Given the description of an element on the screen output the (x, y) to click on. 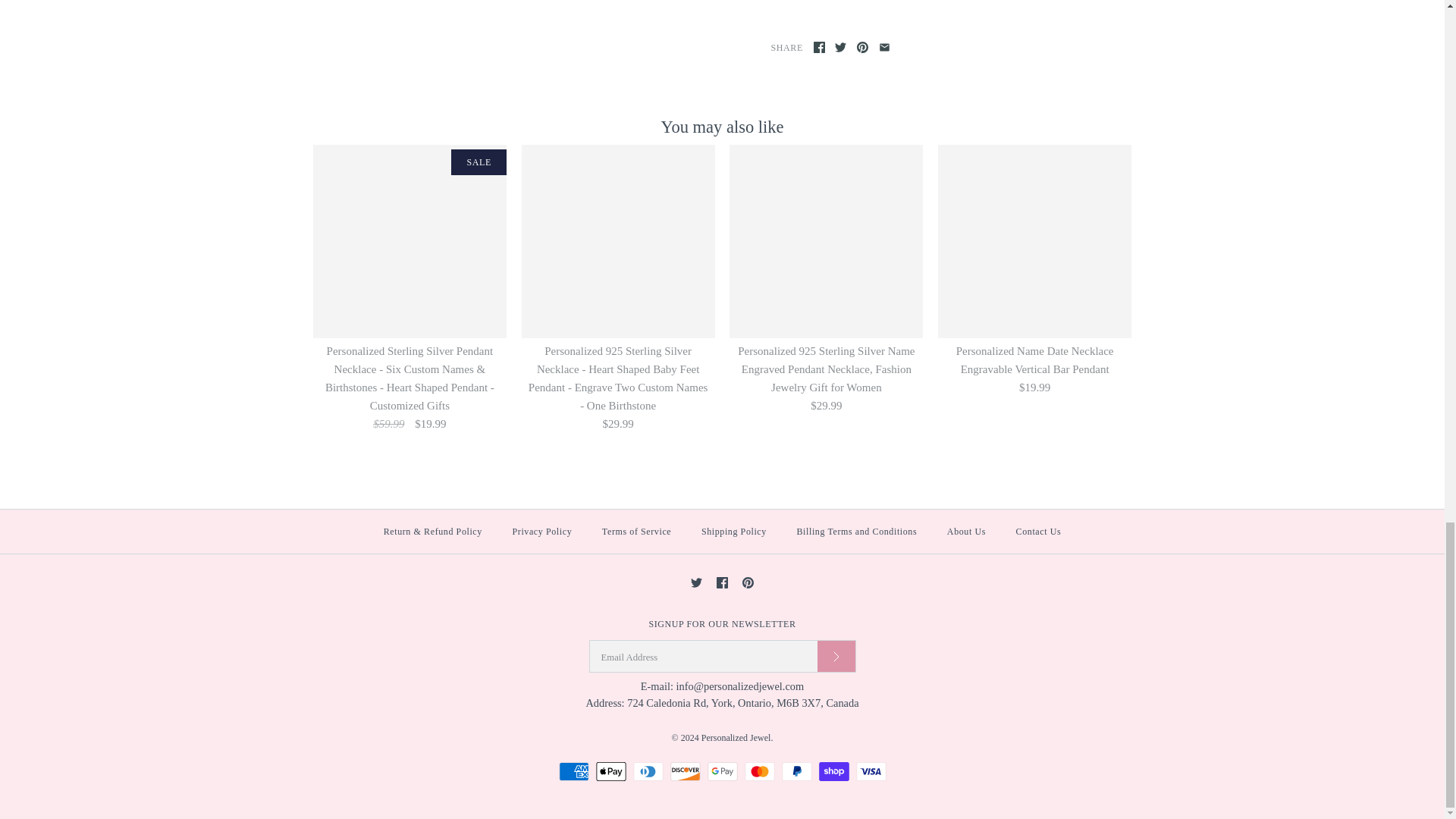
Pinterest (748, 582)
Pinterest (862, 47)
Diners Club (646, 771)
Mastercard (759, 771)
Apple Pay (610, 771)
Facebook (819, 47)
Share on Twitter (839, 47)
Discover (684, 771)
PayPal (795, 771)
Email (884, 47)
Google Pay (721, 771)
Twitter (695, 582)
Twitter (839, 47)
American Express (572, 771)
Share using email (884, 47)
